Given the description of an element on the screen output the (x, y) to click on. 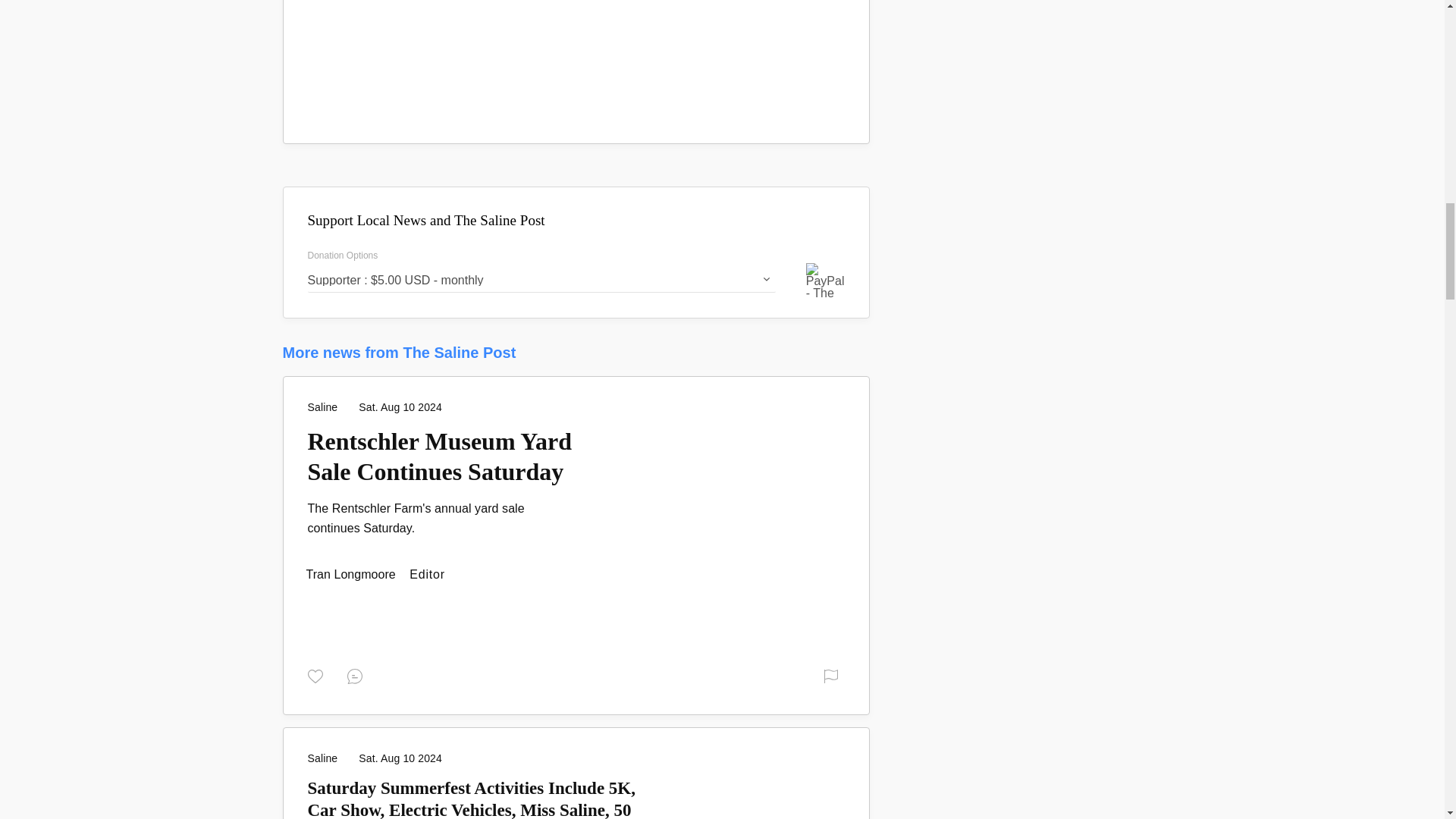
Reply (357, 674)
Editor (351, 574)
Thank (318, 674)
